Given the description of an element on the screen output the (x, y) to click on. 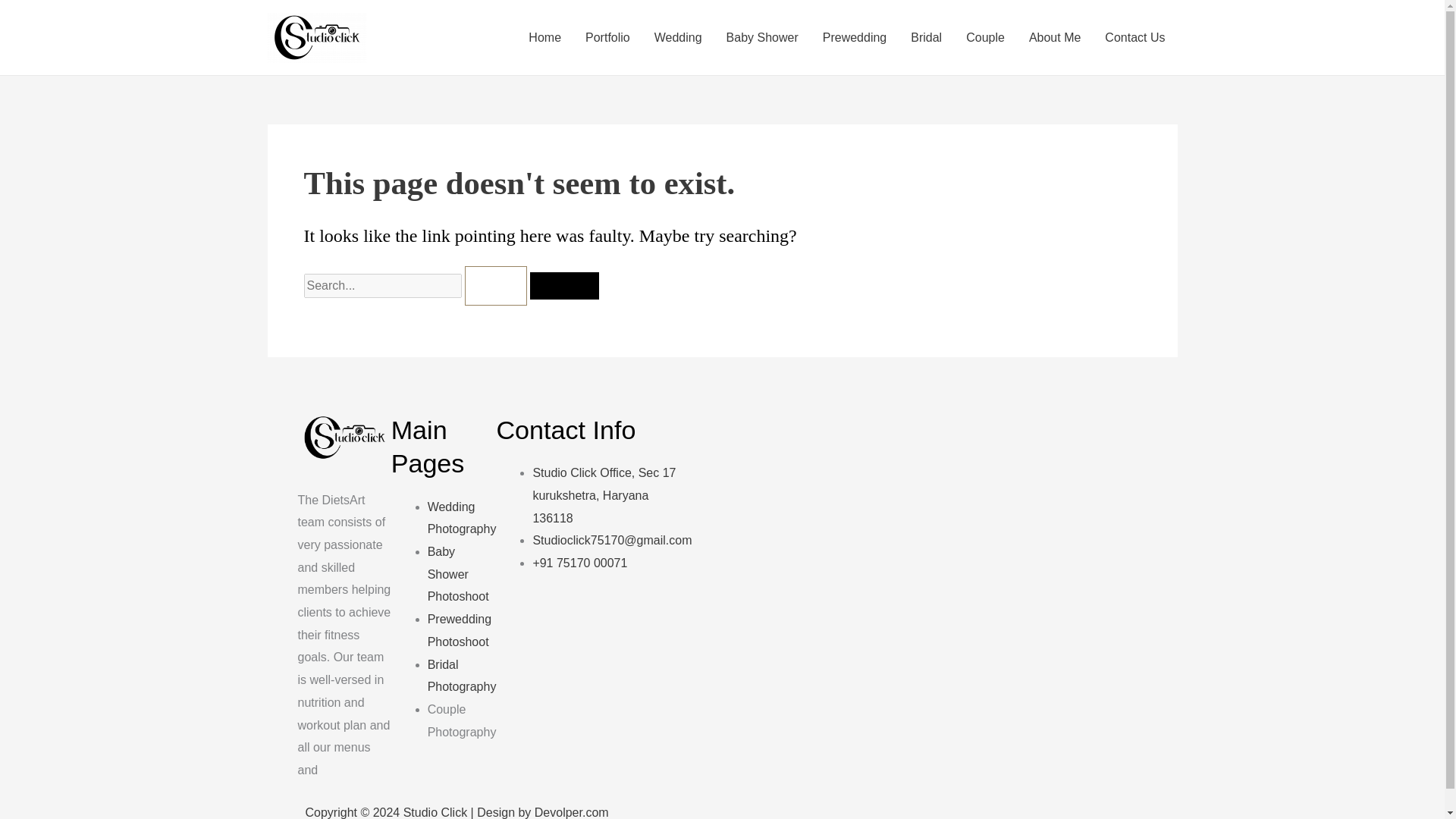
Bridal (925, 37)
Baby Shower (762, 37)
Bridal Photography (462, 675)
Baby Shower Photoshoot (458, 573)
Prewedding (854, 37)
Studio Click Office, Sec 17 kurukshetra, Haryana 136118 (603, 495)
About Me (1054, 37)
Search (563, 285)
Couple (984, 37)
Contact Us (1134, 37)
Home (544, 37)
Wedding (678, 37)
Search (563, 285)
Search (563, 285)
Prewedding Photoshoot (460, 630)
